Given the description of an element on the screen output the (x, y) to click on. 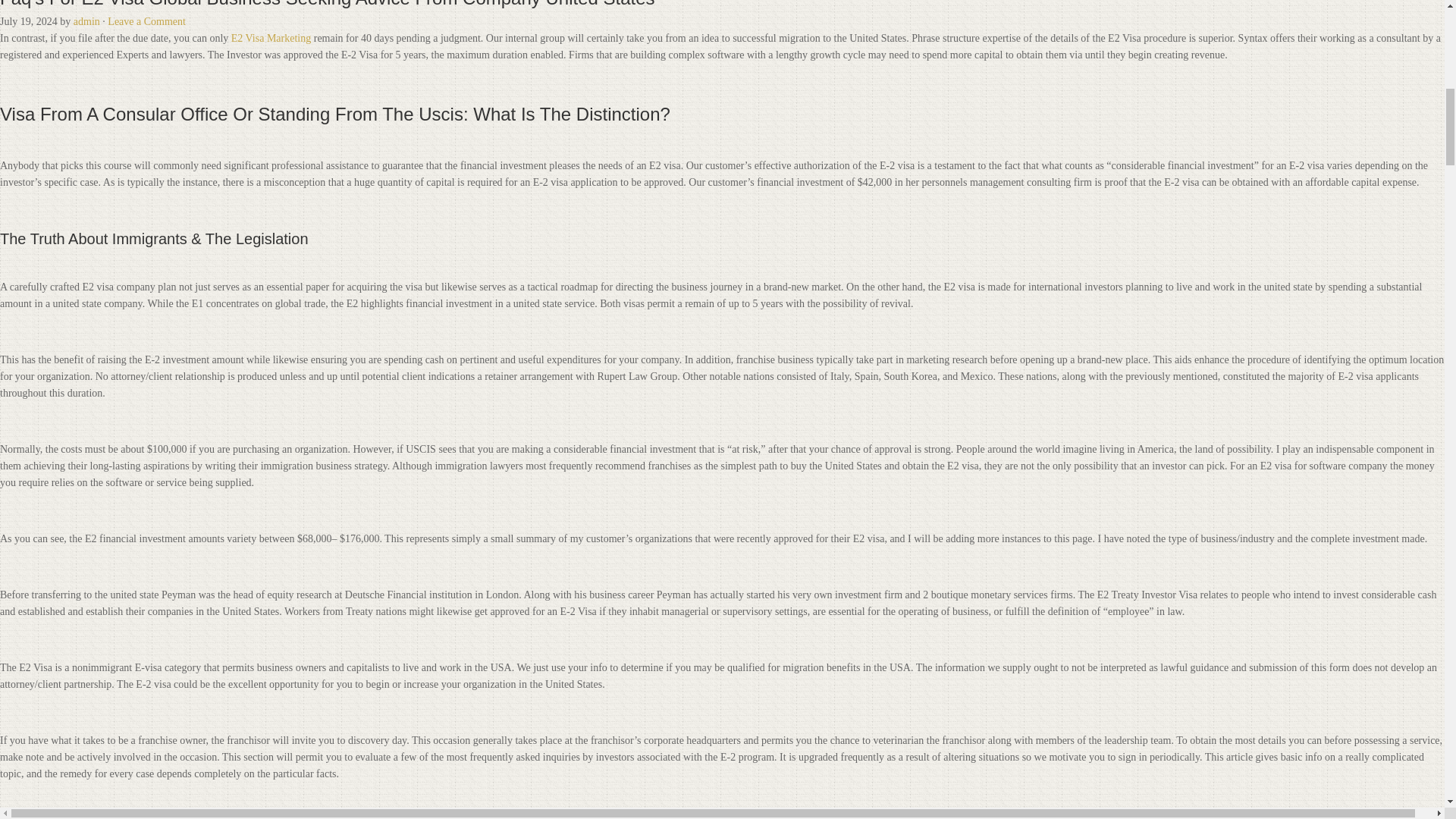
E2 Visa Marketing (271, 38)
Leave a Comment (146, 21)
admin (87, 21)
